Given the description of an element on the screen output the (x, y) to click on. 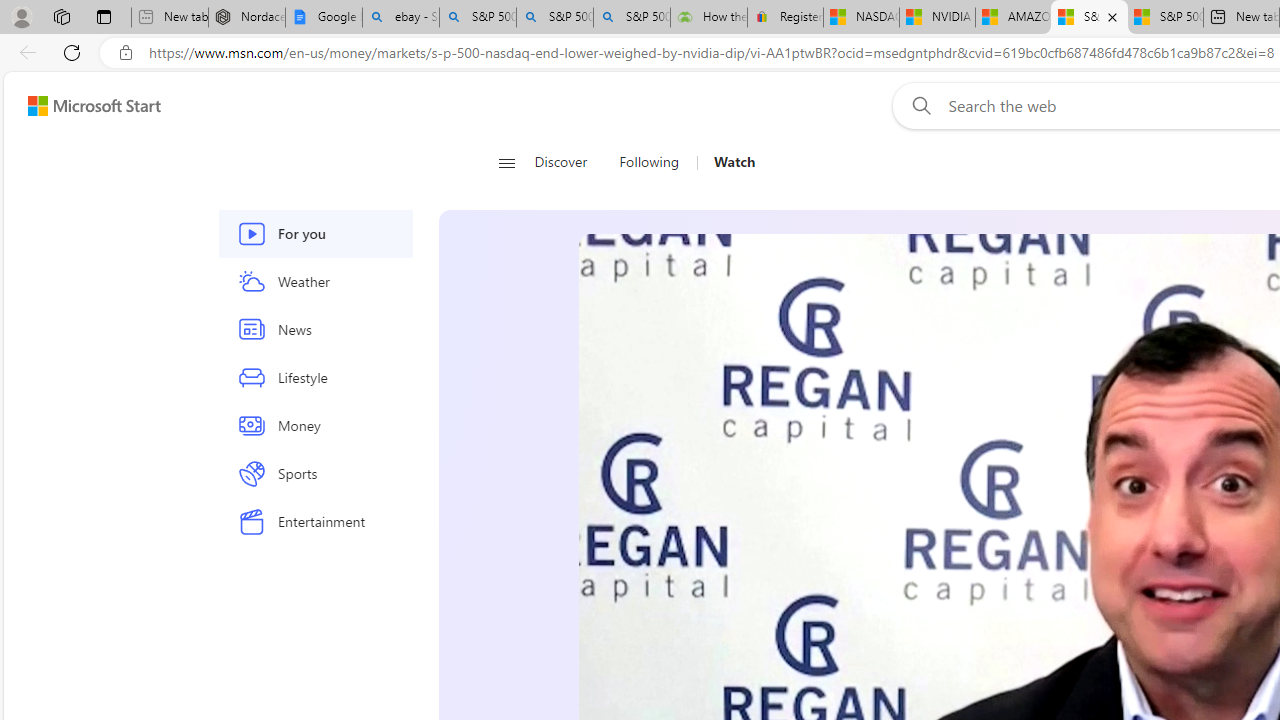
How the S&P 500 Performed During Major Market Crashes (708, 17)
S&P 500 index financial crisis decline - Search (631, 17)
Google Docs: Online Document Editor | Google Workspace (323, 17)
Skip to footer (82, 105)
Class: button-glyph (505, 162)
